Given the description of an element on the screen output the (x, y) to click on. 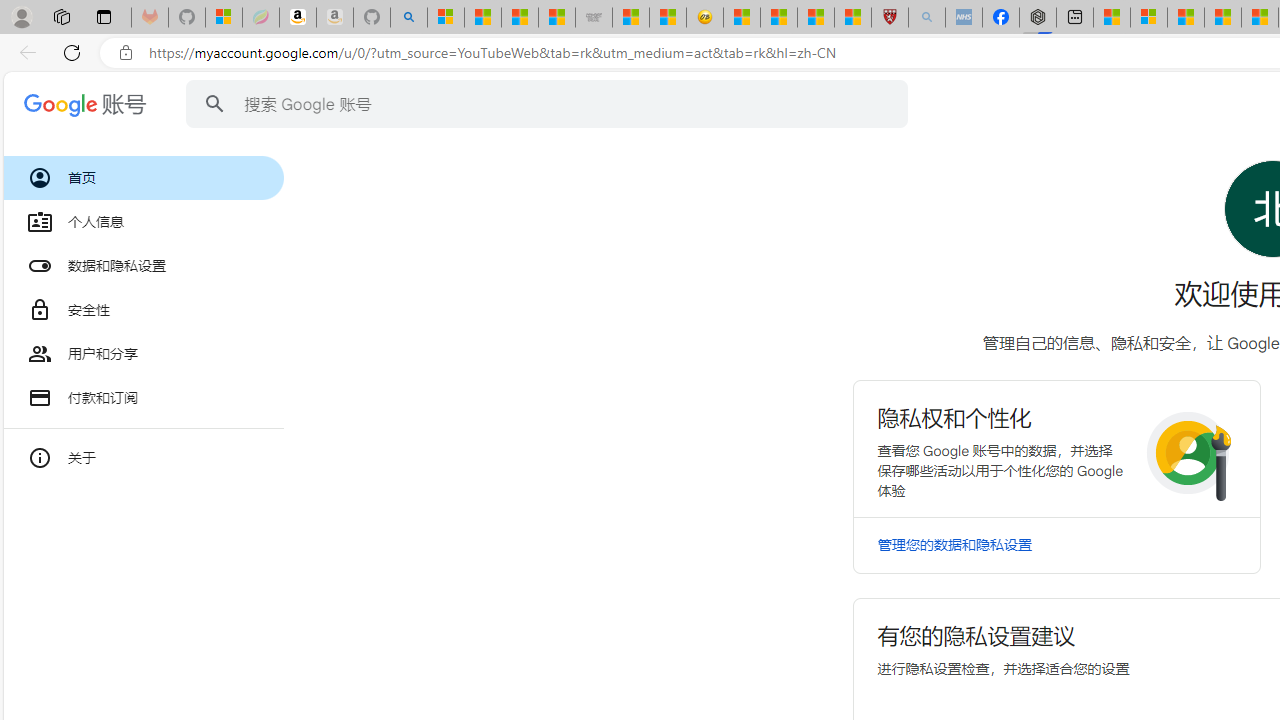
Recipes - MSN (742, 17)
